Given the description of an element on the screen output the (x, y) to click on. 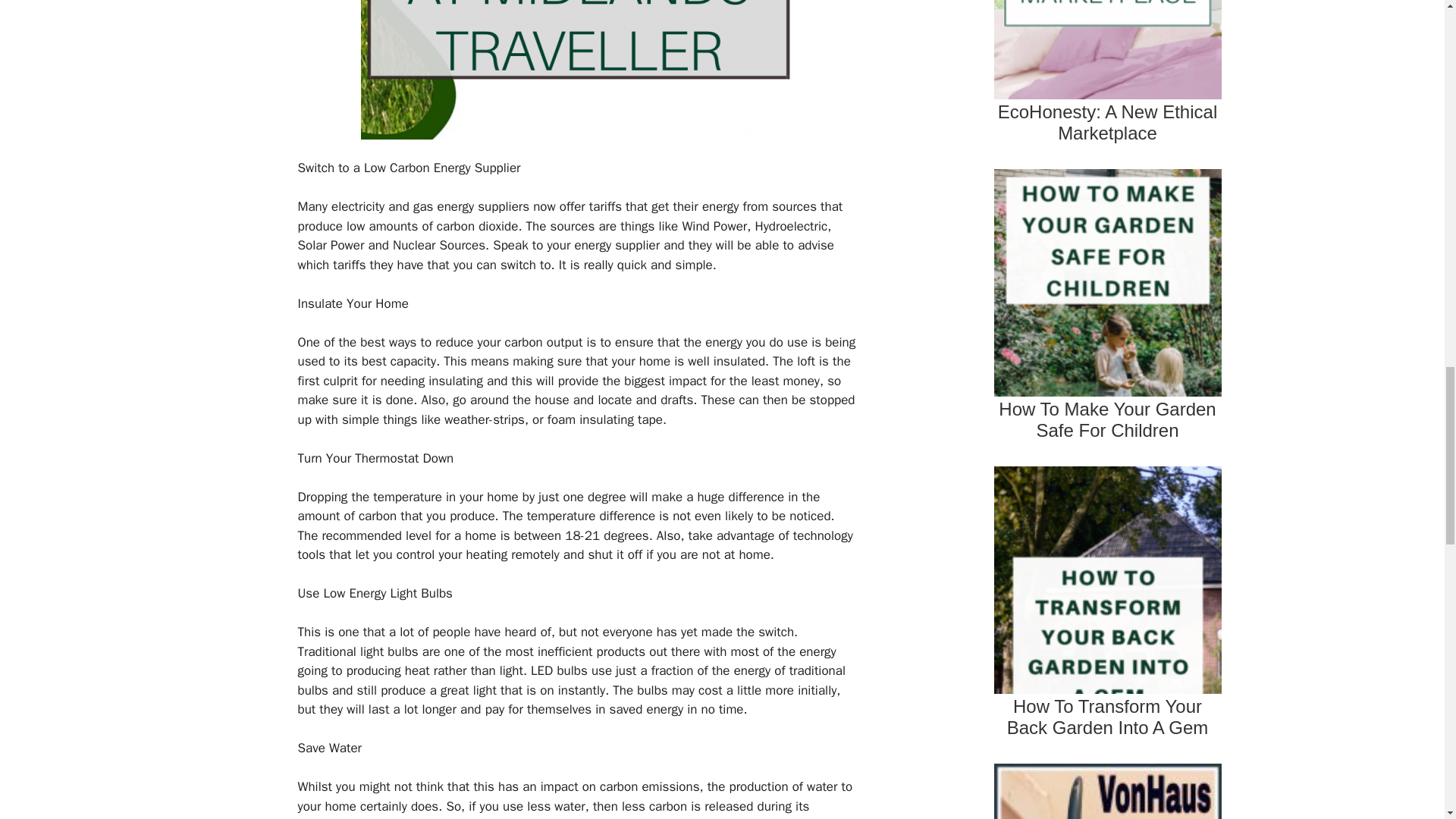
EcoHonesty: A New Ethical Marketplace (1106, 80)
VonHaus 2 in 1 Stick Vacuum: Review (1106, 789)
